Given the description of an element on the screen output the (x, y) to click on. 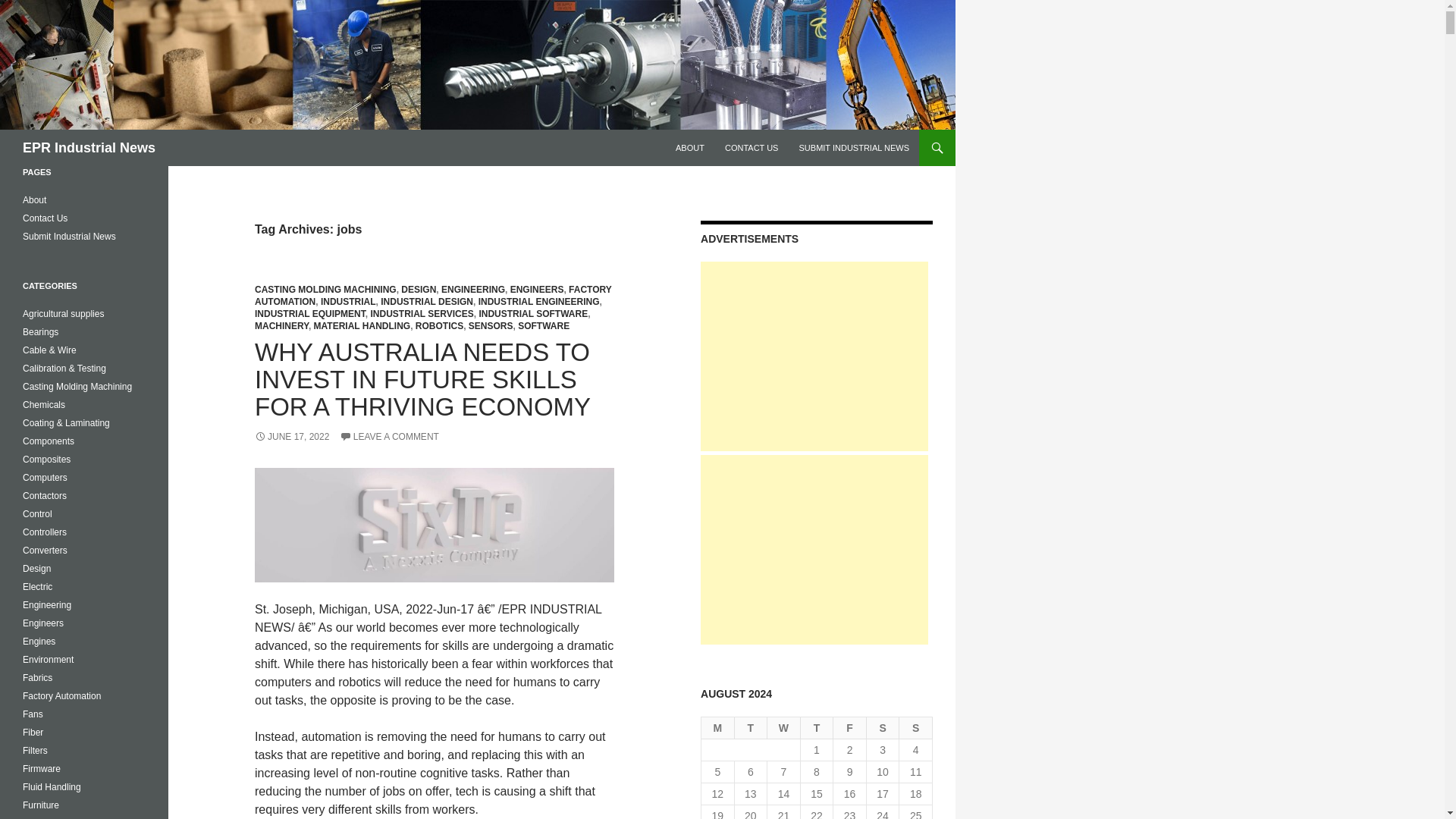
SUBMIT INDUSTRIAL NEWS (854, 147)
Monday (718, 728)
Advertisement (814, 356)
Thursday (817, 728)
Advertisement (814, 549)
INDUSTRIAL DESIGN (426, 301)
INDUSTRIAL EQUIPMENT (309, 313)
ROBOTICS (438, 326)
